Given the description of an element on the screen output the (x, y) to click on. 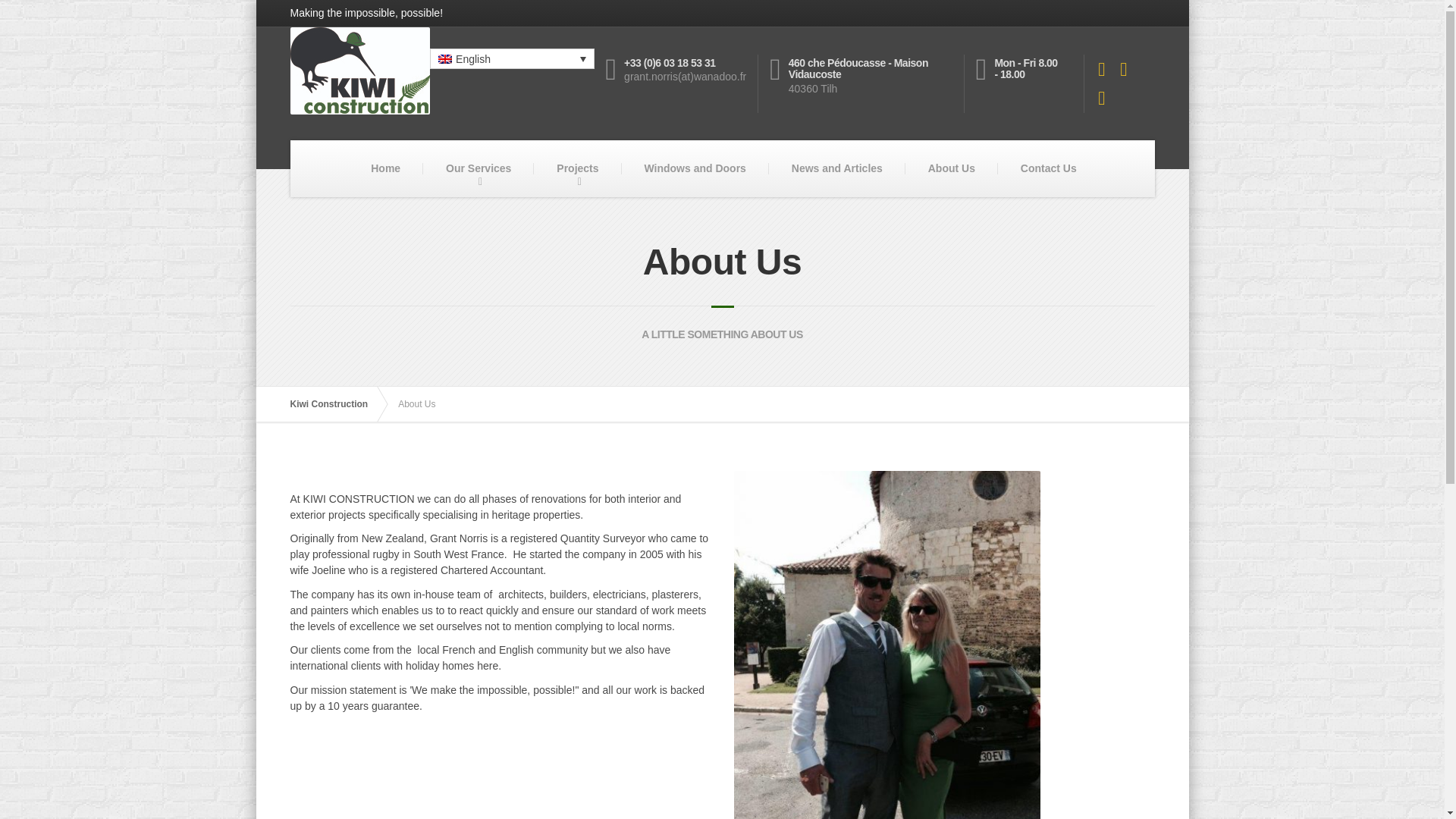
Go to Kiwi Construction. (335, 403)
News and Articles (836, 168)
Windows and Doors (694, 168)
Contact Us (1048, 168)
About Us (951, 168)
Projects (577, 168)
English (511, 58)
Home (385, 168)
Our Services (478, 168)
